Given the description of an element on the screen output the (x, y) to click on. 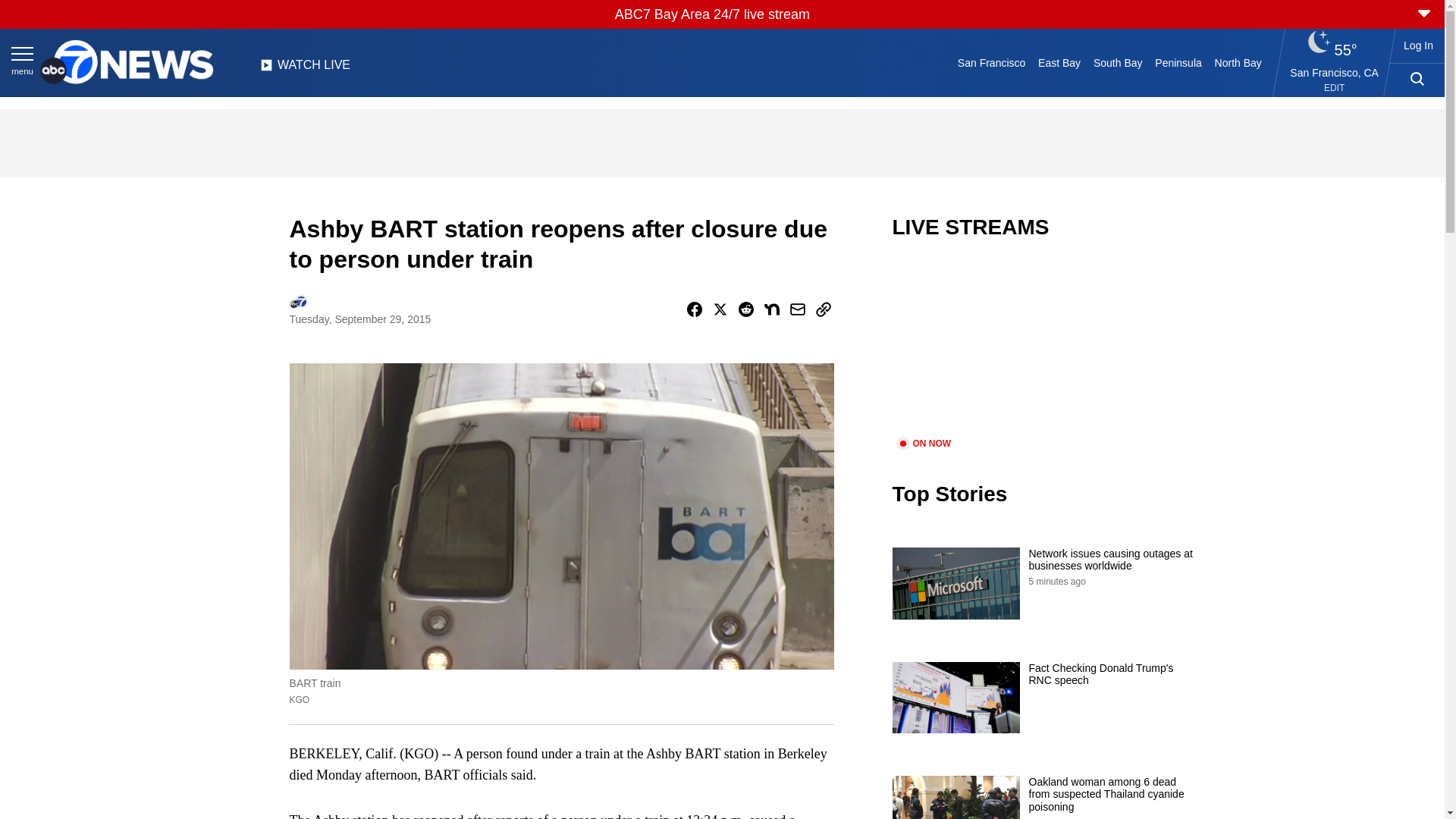
WATCH LIVE (305, 69)
San Francisco, CA (1334, 72)
Peninsula (1178, 62)
San Francisco (990, 62)
North Bay (1238, 62)
EDIT (1333, 87)
video.title (1043, 347)
South Bay (1117, 62)
East Bay (1059, 62)
